Given the description of an element on the screen output the (x, y) to click on. 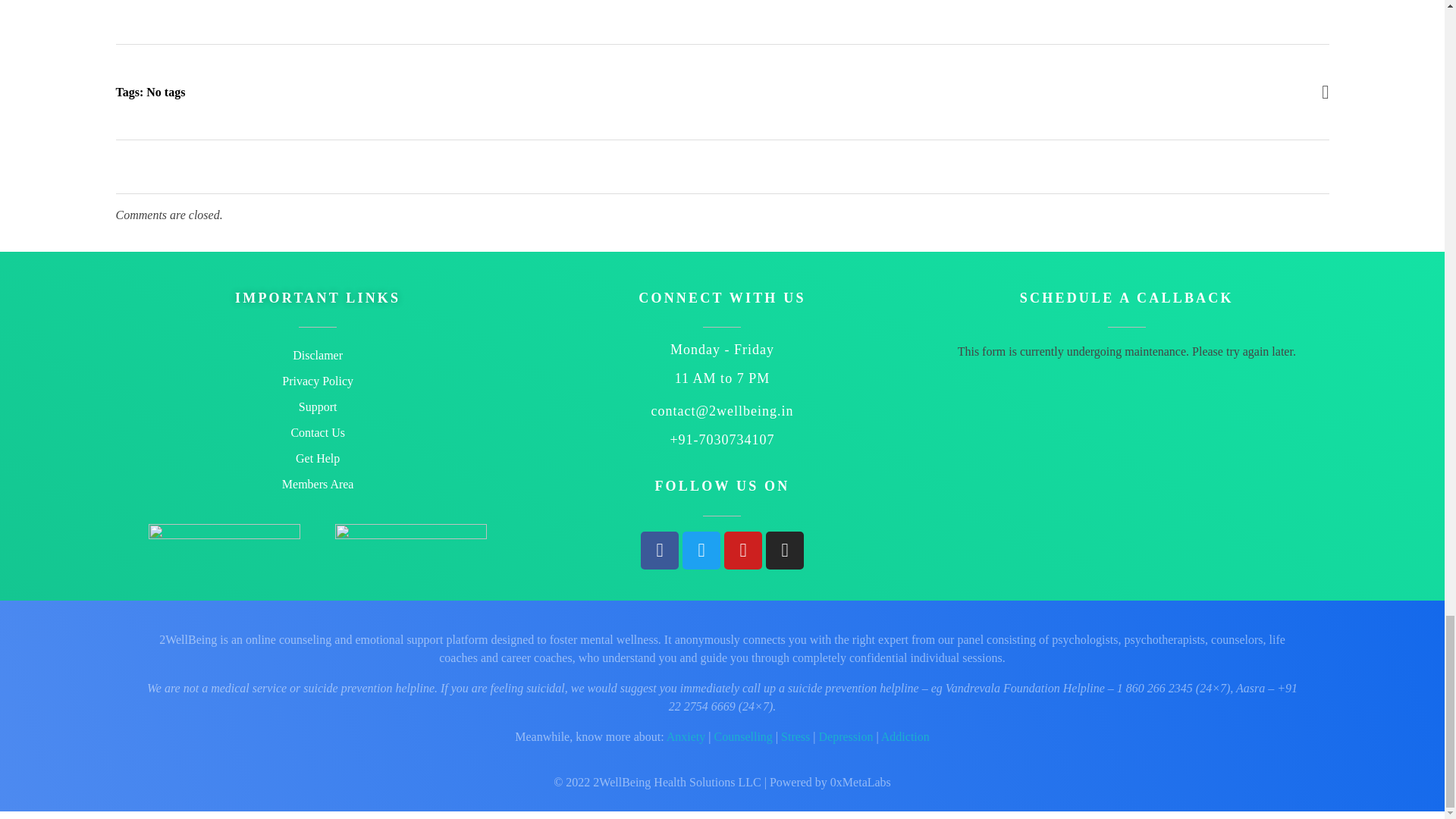
Disclamer (317, 355)
Contact Us (317, 432)
Anxiety (686, 736)
Stress (794, 736)
Privacy Policy (317, 380)
Members Area (317, 484)
Support (317, 406)
Counselling (742, 736)
Get Help (317, 458)
Depression (845, 736)
